Given the description of an element on the screen output the (x, y) to click on. 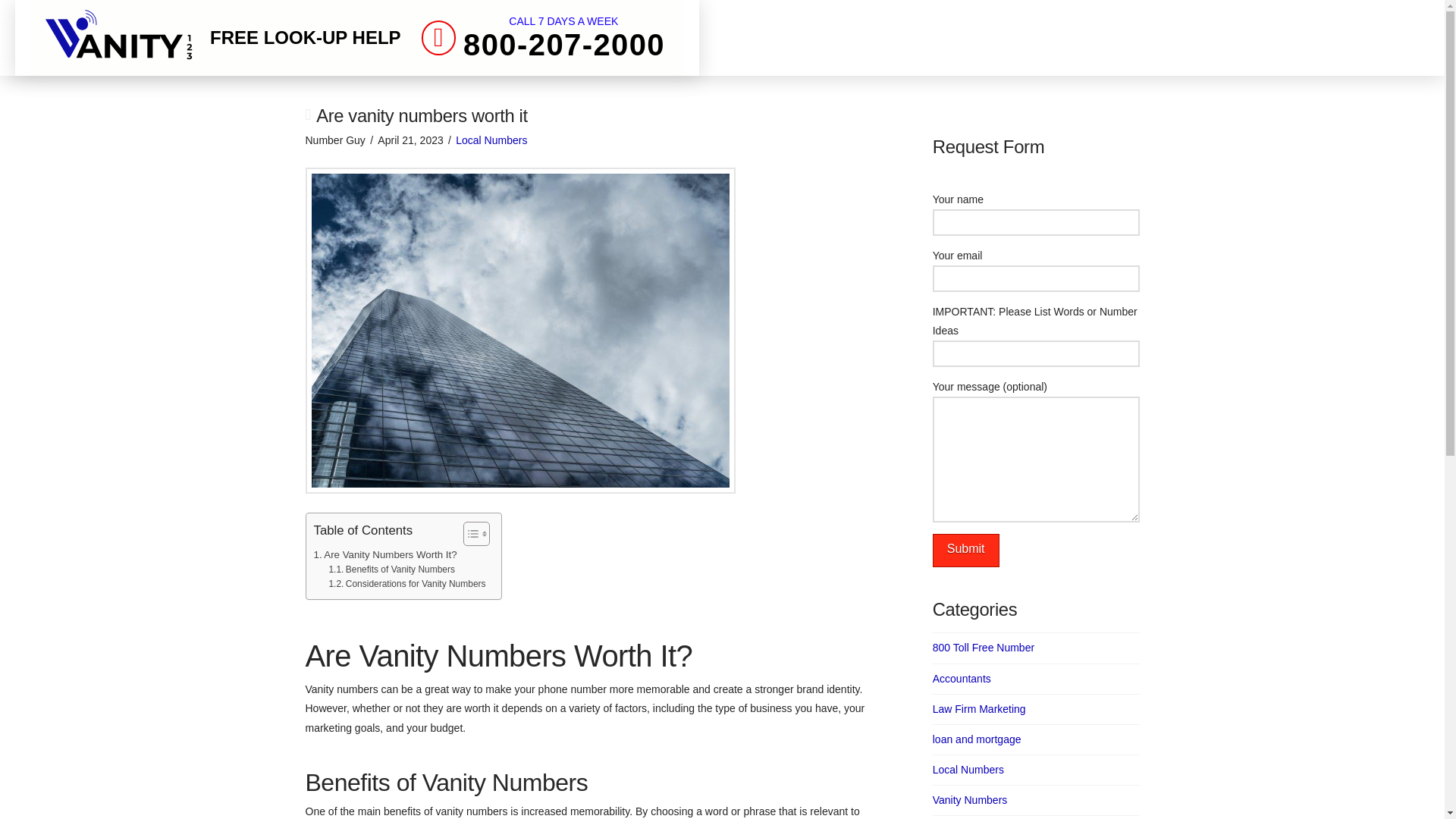
Law Firm Marketing (979, 709)
Vanity Numbers (970, 800)
Submit (965, 550)
Local Numbers (968, 770)
Considerations for Vanity Numbers (406, 584)
loan and mortgage (977, 739)
800 Toll Free Number (983, 647)
Benefits of Vanity Numbers (542, 37)
Accountants (391, 569)
